Given the description of an element on the screen output the (x, y) to click on. 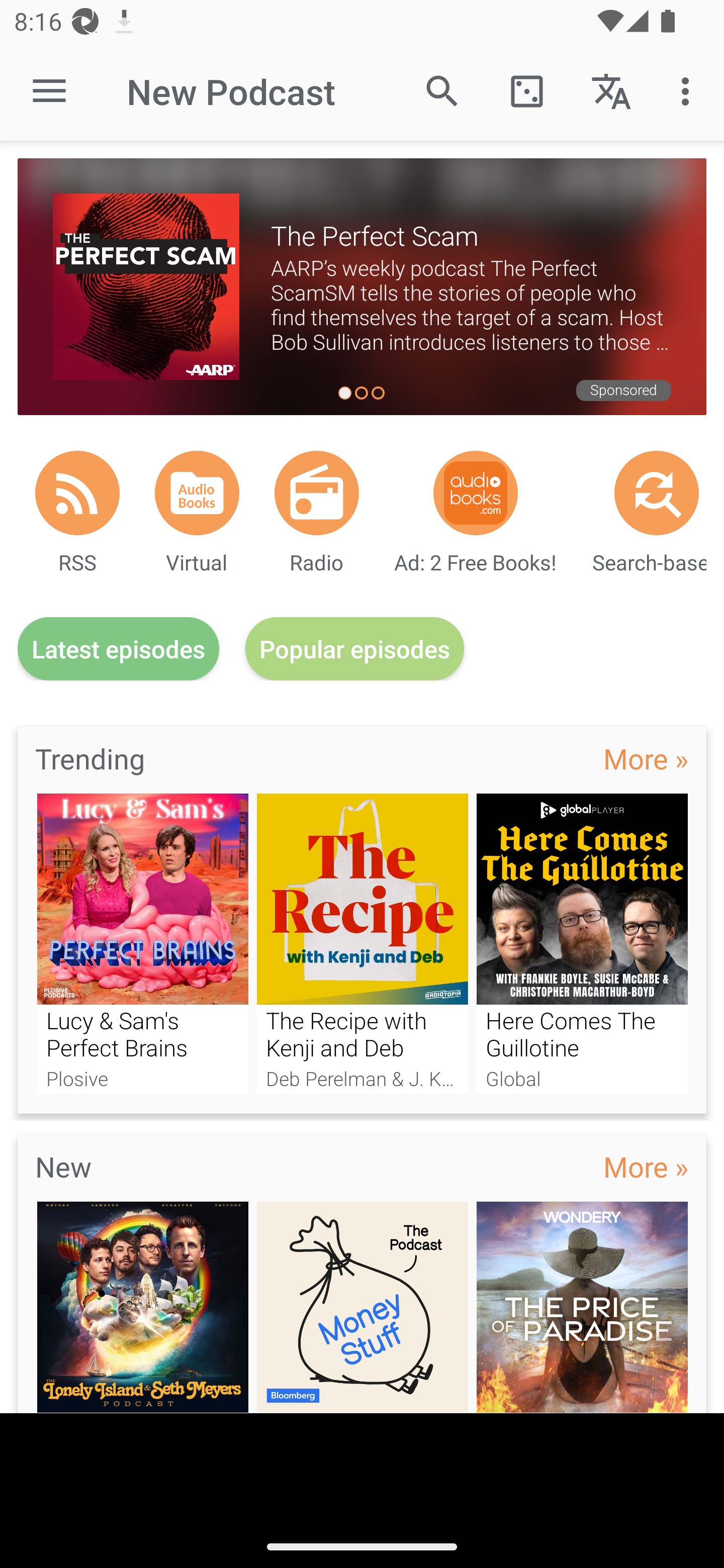
Open navigation sidebar (49, 91)
Search (442, 90)
Random pick (526, 90)
Podcast languages (611, 90)
More options (688, 90)
RSS (77, 492)
Virtual (196, 492)
Radio (316, 492)
Search-based (656, 492)
Latest episodes (118, 648)
Popular episodes (354, 648)
More » (645, 757)
Lucy & Sam's Perfect Brains Plosive (142, 942)
Here Comes The Guillotine Global (581, 942)
More » (645, 1166)
The Lonely Island and Seth Meyers Podcast (142, 1306)
Money Stuff: The Podcast (362, 1306)
The Price of Paradise (581, 1306)
